Given the description of an element on the screen output the (x, y) to click on. 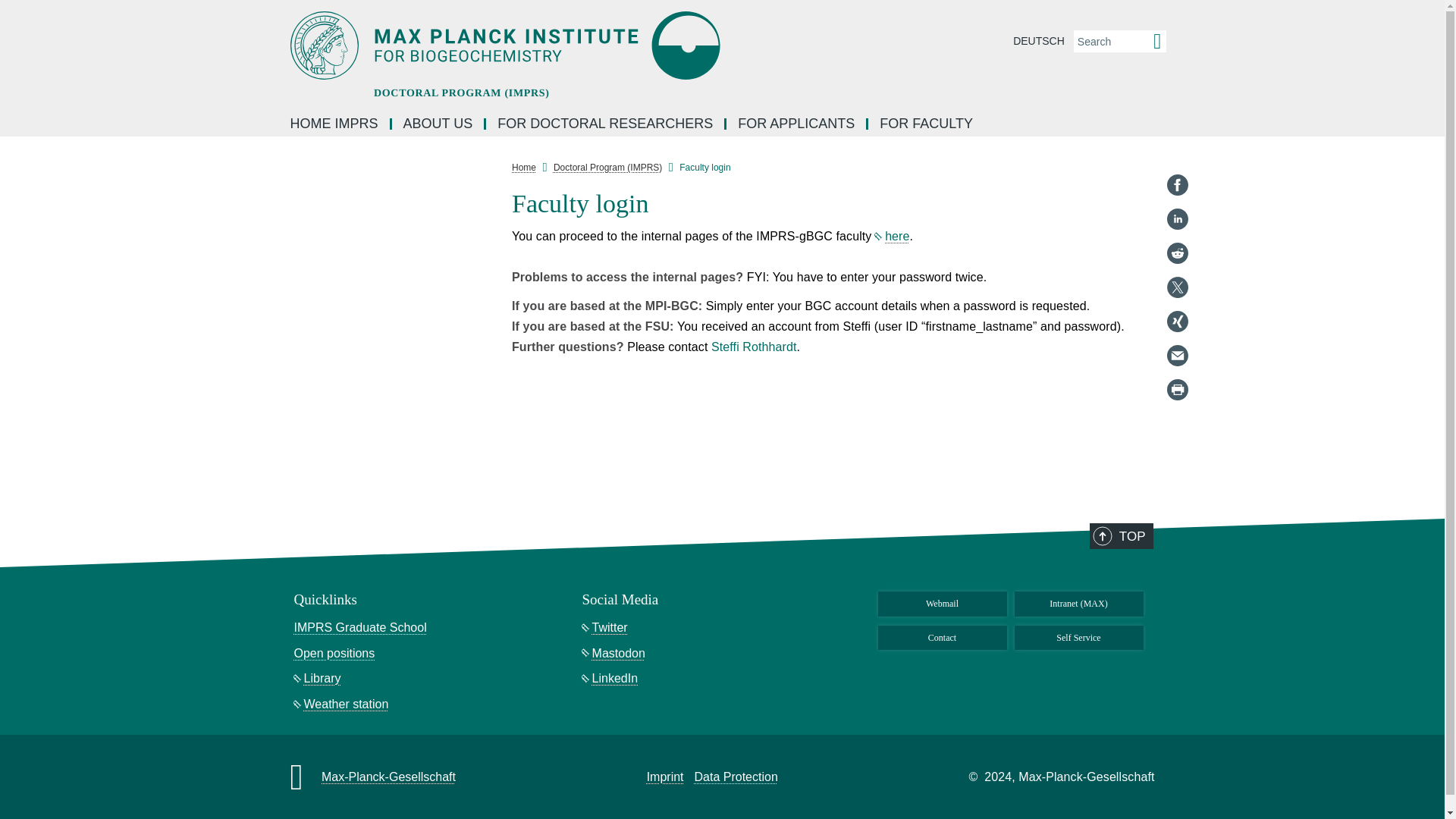
Twitter (1177, 287)
HOME IMPRS (335, 123)
FOR DOCTORAL RESEARCHERS (606, 123)
E-Mail (1177, 354)
Xing (1177, 321)
DEUTSCH (1038, 41)
ABOUT US (438, 123)
Reddit (1177, 252)
FOR APPLICANTS (796, 123)
Print (1177, 389)
